Given the description of an element on the screen output the (x, y) to click on. 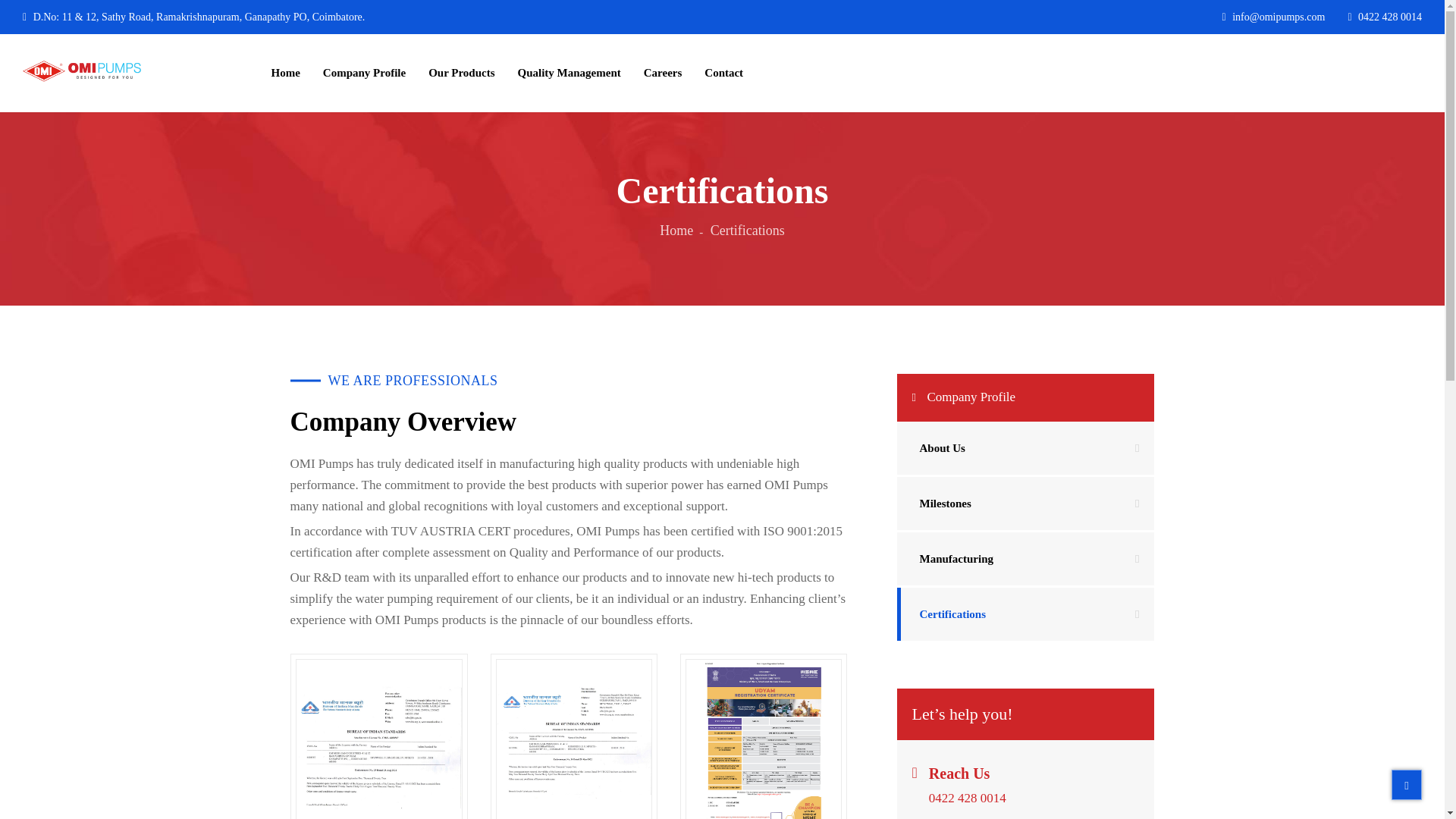
Our Products (460, 73)
OMMURUGAN-IND (763, 739)
Company Profile (363, 73)
0422 428 0014 (1385, 16)
BIS-CERTIFICATE-OPEN-WELL (379, 739)
